Given the description of an element on the screen output the (x, y) to click on. 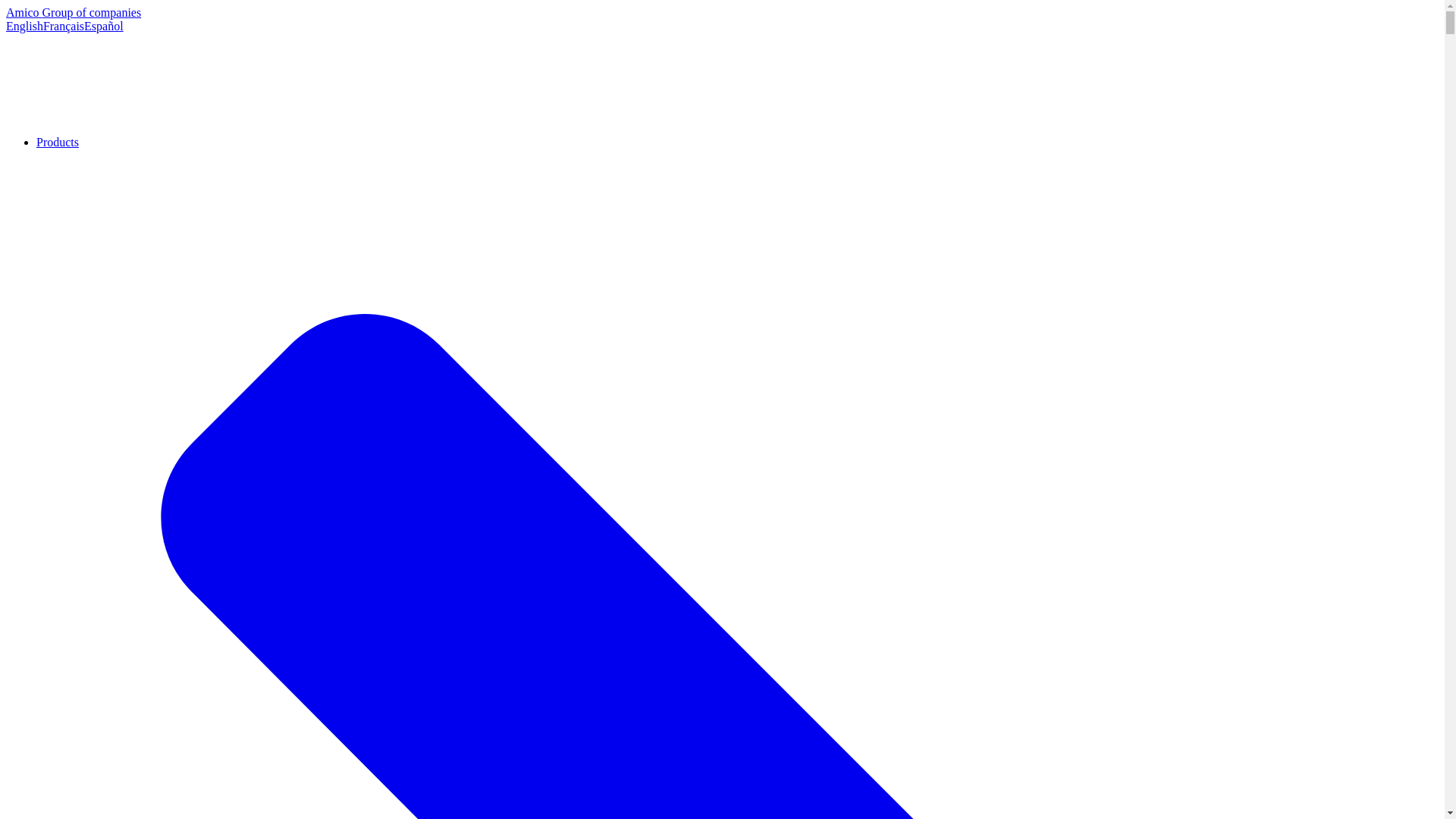
English (24, 25)
Amico Group of companies (73, 11)
